Given the description of an element on the screen output the (x, y) to click on. 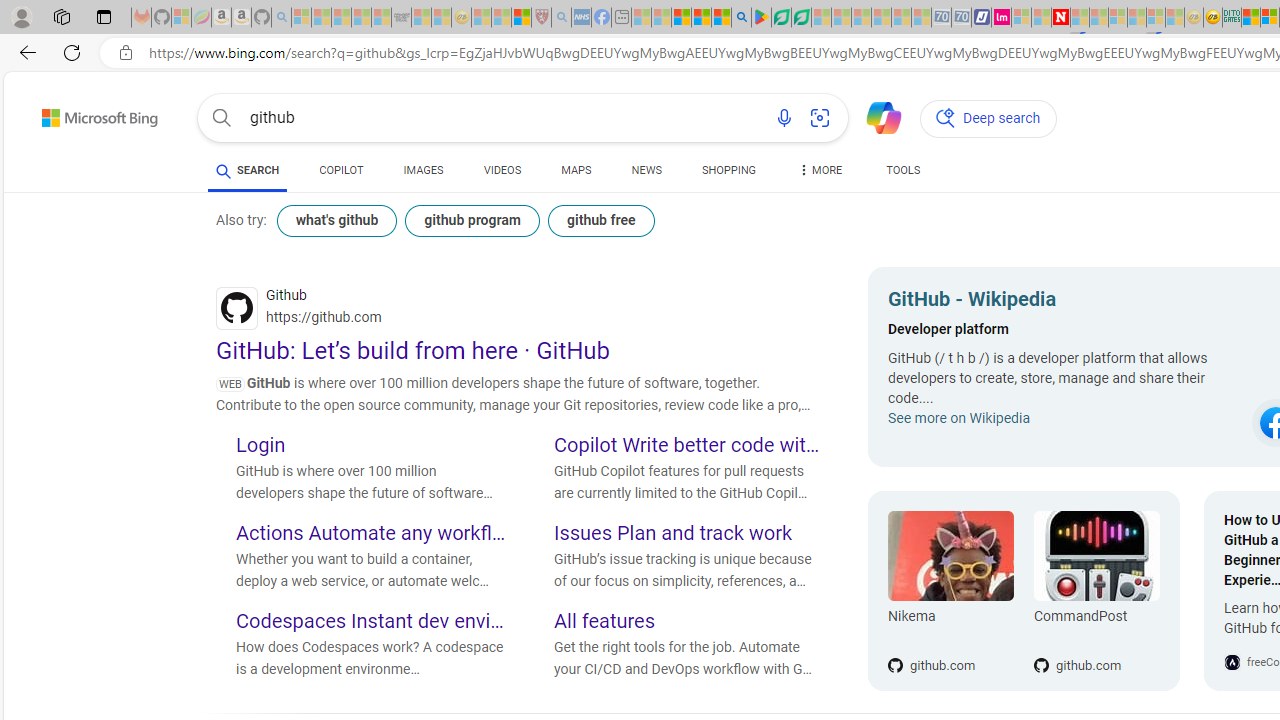
Local - MSN (521, 17)
MAPS (576, 173)
Cheap Hotels - Save70.com - Sleeping (961, 17)
what's github (336, 220)
Pets - MSN (701, 17)
SHOPPING (728, 170)
Search using an image (820, 117)
DITOGAMES AG Imprint (1231, 17)
Jobs - lastminute.com Investor Portal (1001, 17)
Microsoft Word - consumer-privacy address update 2.2021 (801, 17)
